Given the description of an element on the screen output the (x, y) to click on. 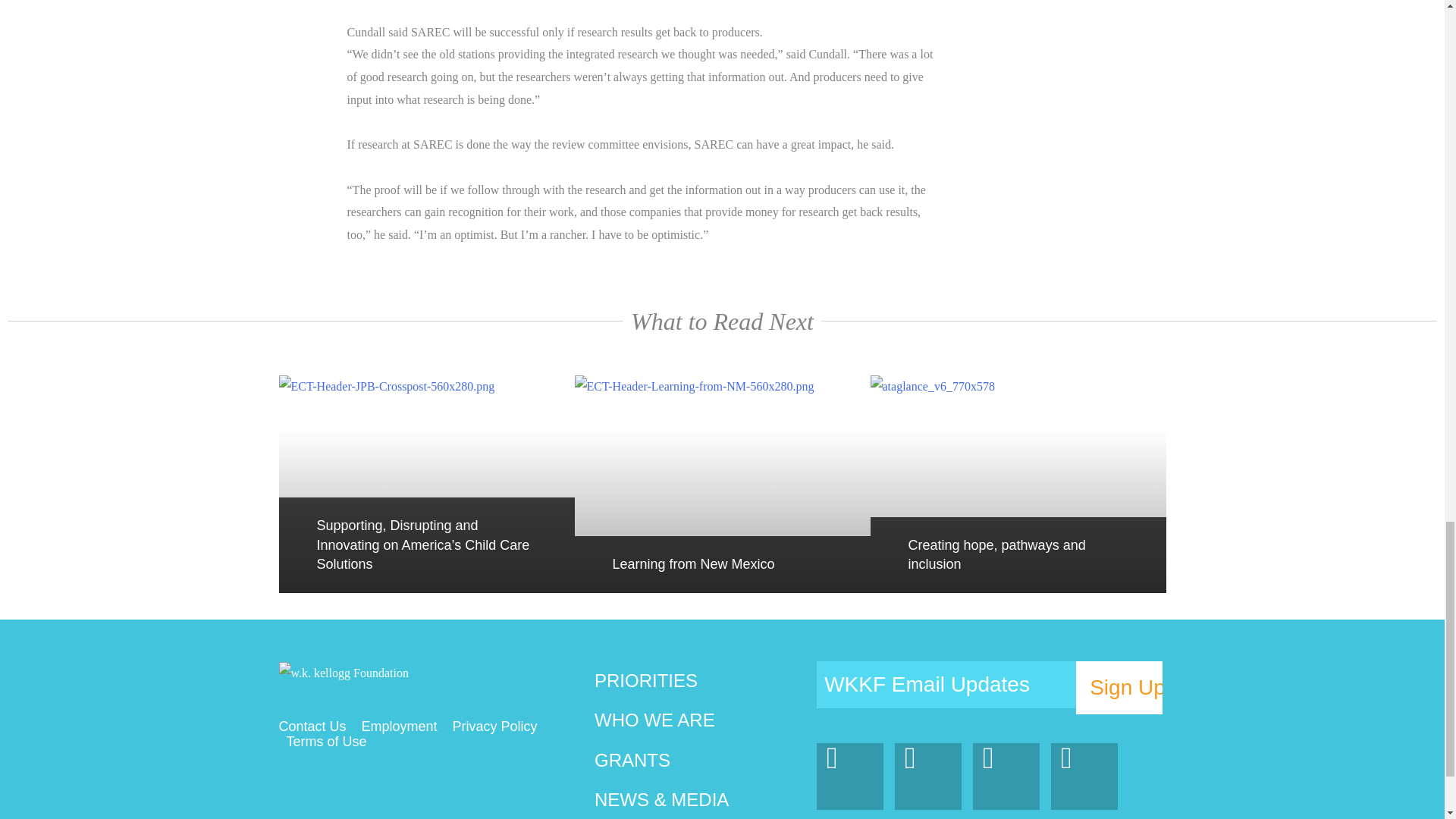
Sign Up (1118, 687)
